Given the description of an element on the screen output the (x, y) to click on. 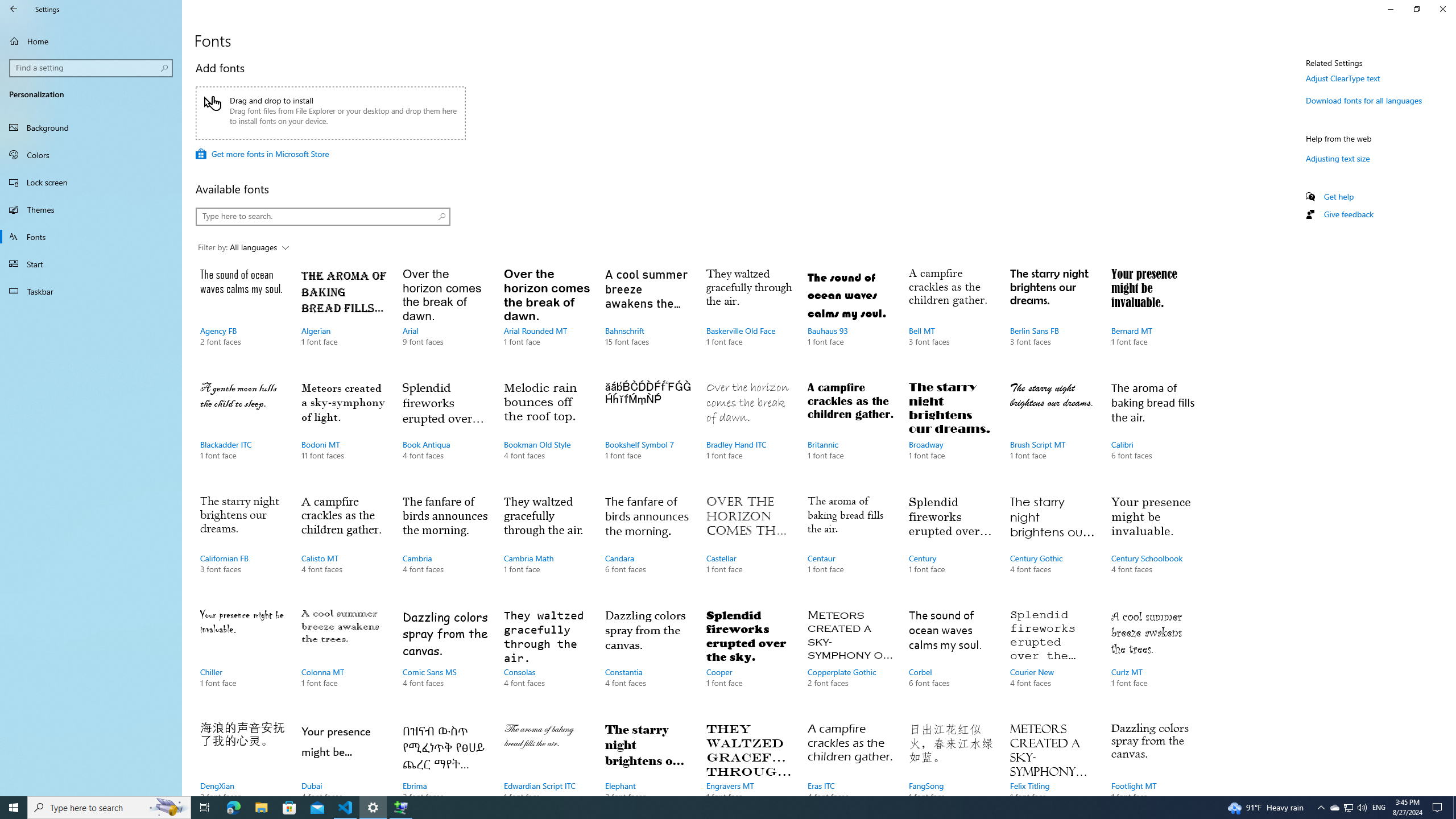
Bauhaus 93, 1 font face (850, 318)
Adjusting text size (1338, 158)
Agency FB, 2 font faces (243, 318)
Close Settings (1442, 9)
Adjust ClearType text (1343, 77)
Century Gothic, 4 font faces (1052, 545)
Settings - 1 running window (373, 807)
Baskerville Old Face, 1 font face (748, 318)
Californian FB, 3 font faces (243, 545)
Cambria Math, 1 font face (545, 545)
Brush Script MT, 1 font face (1052, 431)
Curlz MT, 1 font face (1153, 659)
Extensible Wizards Host Process - 1 running window (400, 807)
